Given the description of an element on the screen output the (x, y) to click on. 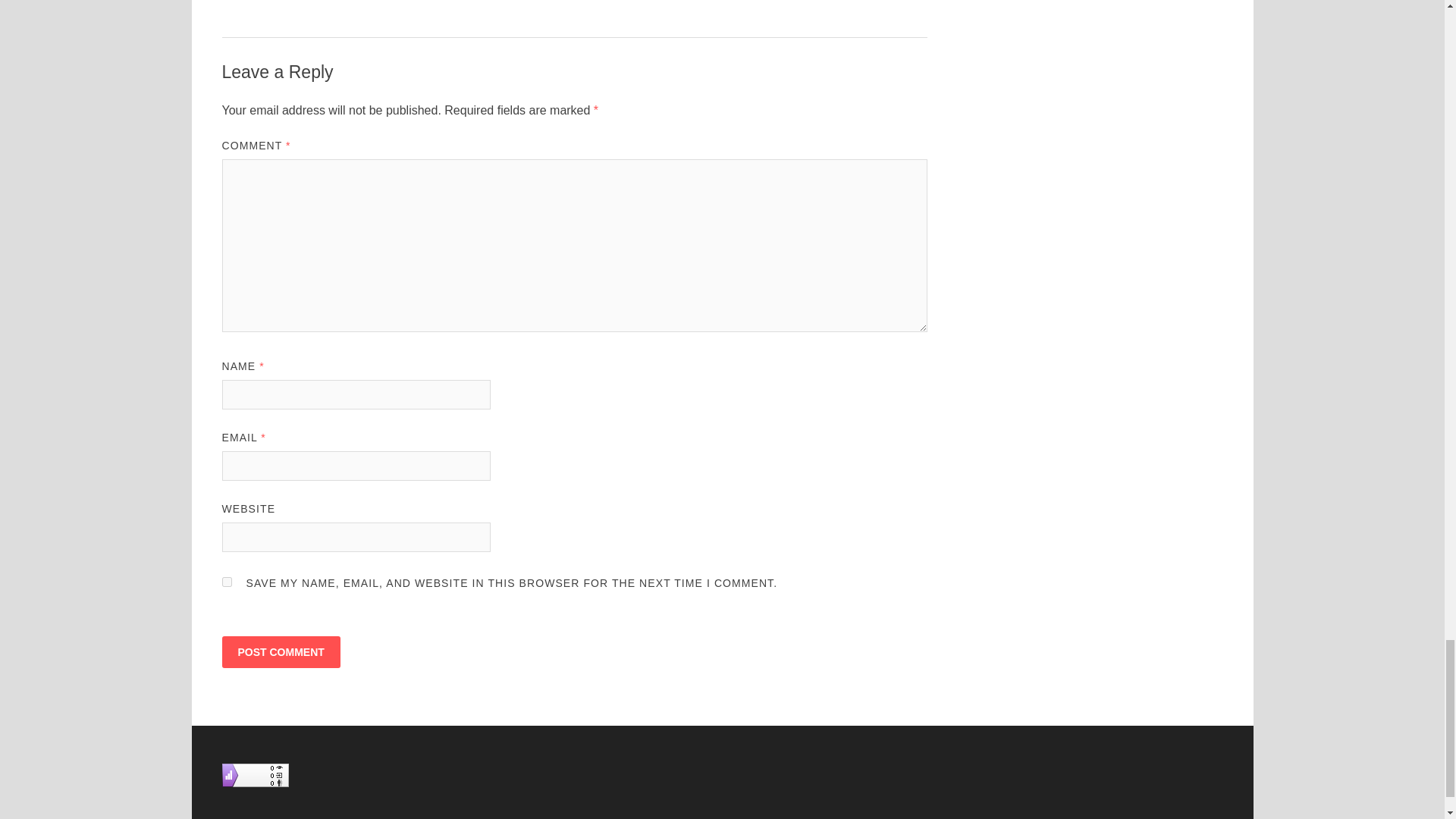
Post Comment (280, 652)
Post Comment (280, 652)
yes (226, 582)
